Given the description of an element on the screen output the (x, y) to click on. 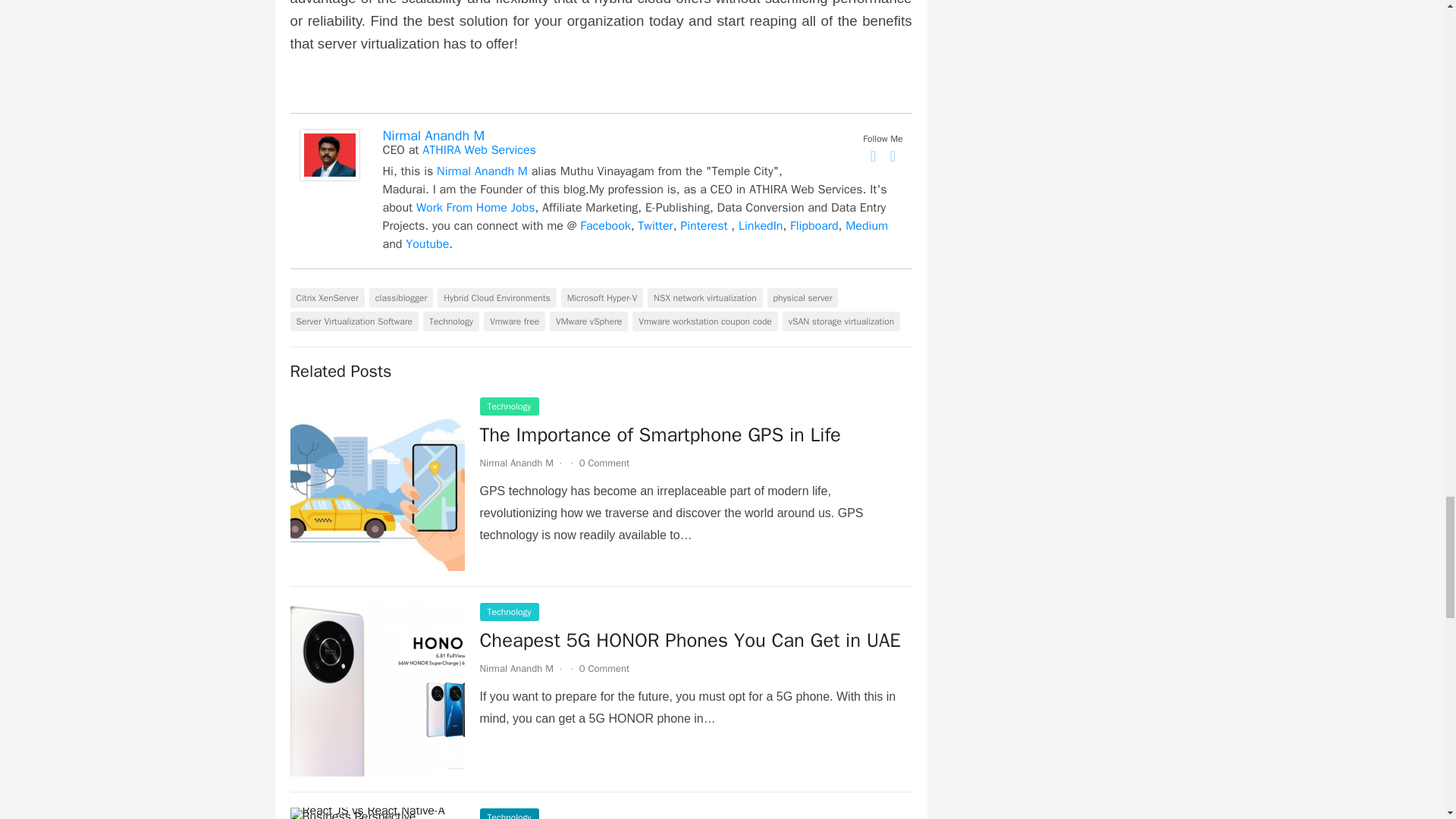
Nirmal Anandh M (328, 177)
Posts by Nirmal Anandh M (516, 462)
Facebook (873, 156)
Posts by Nirmal Anandh M (516, 667)
Twitter (892, 156)
